Given the description of an element on the screen output the (x, y) to click on. 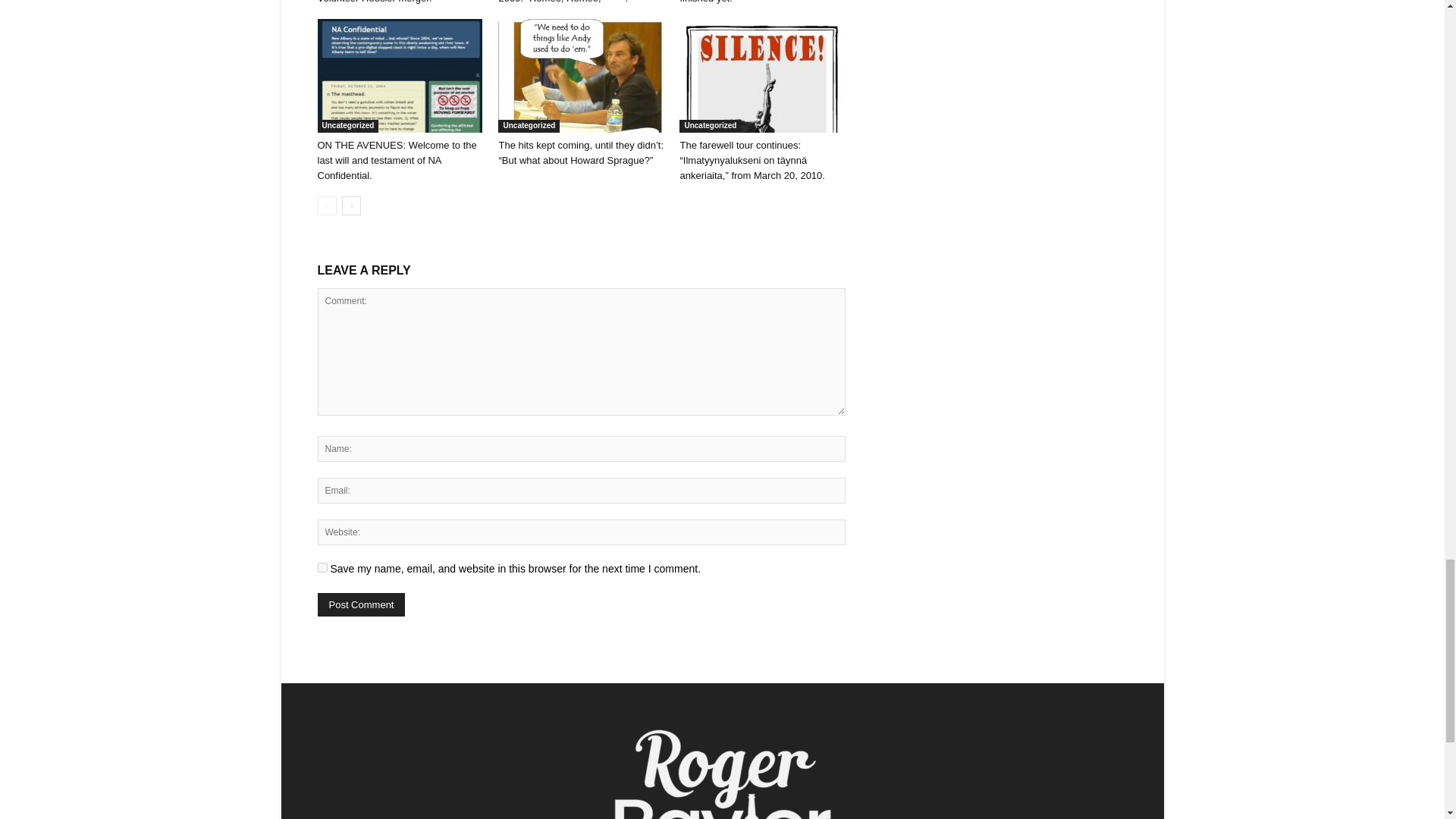
Post Comment (360, 604)
yes (321, 567)
